Given the description of an element on the screen output the (x, y) to click on. 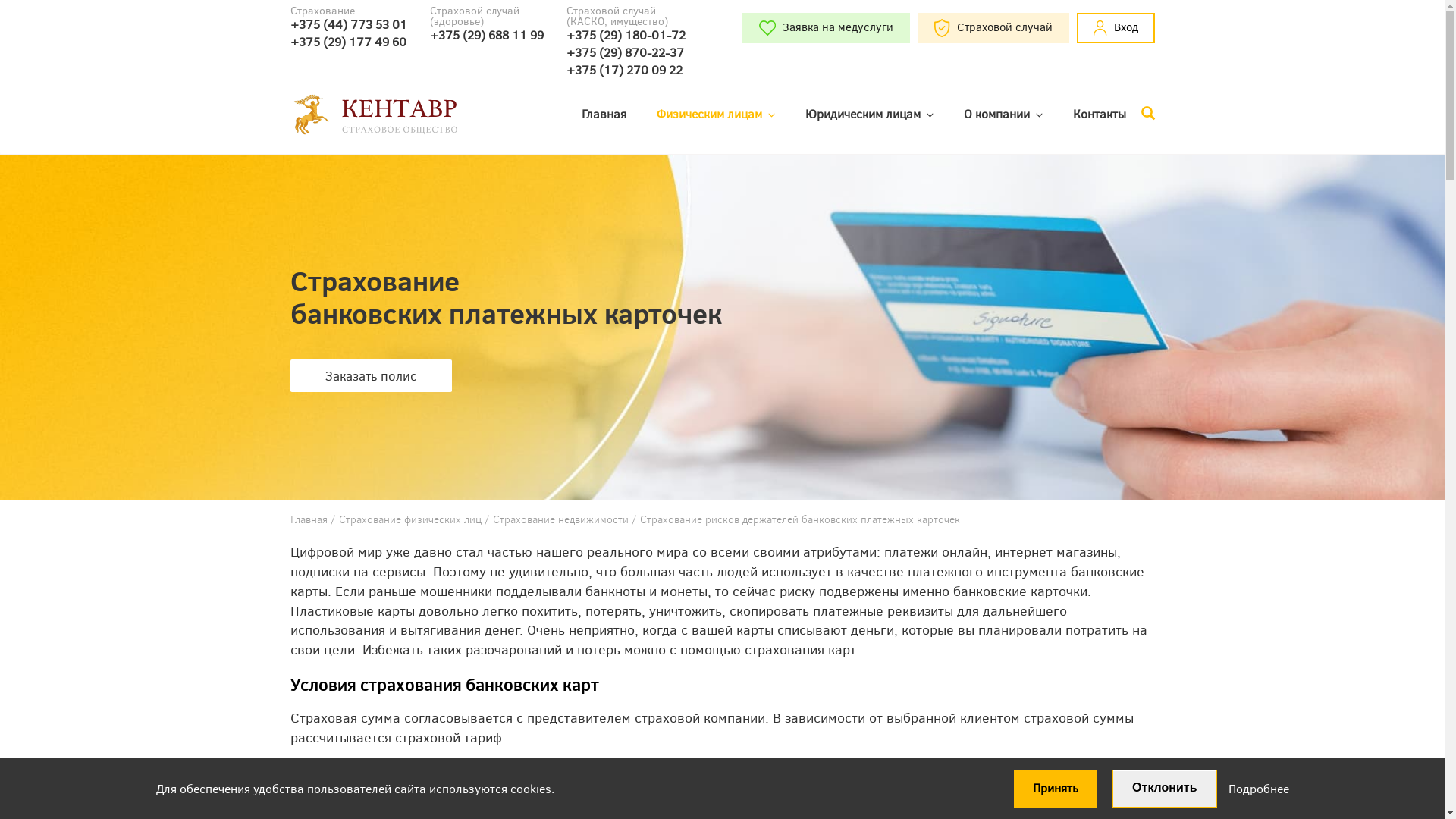
+375 (44) 773 53 01 Element type: text (347, 24)
+375 (29) 177 49 60 Element type: text (347, 41)
+375 (29) 688 11 99 Element type: text (485, 34)
+375 (29) 870-22-37 Element type: text (624, 52)
+375 (17) 270 09 22 Element type: text (624, 69)
+375 (29) 180-01-72 Element type: text (624, 34)
